Given the description of an element on the screen output the (x, y) to click on. 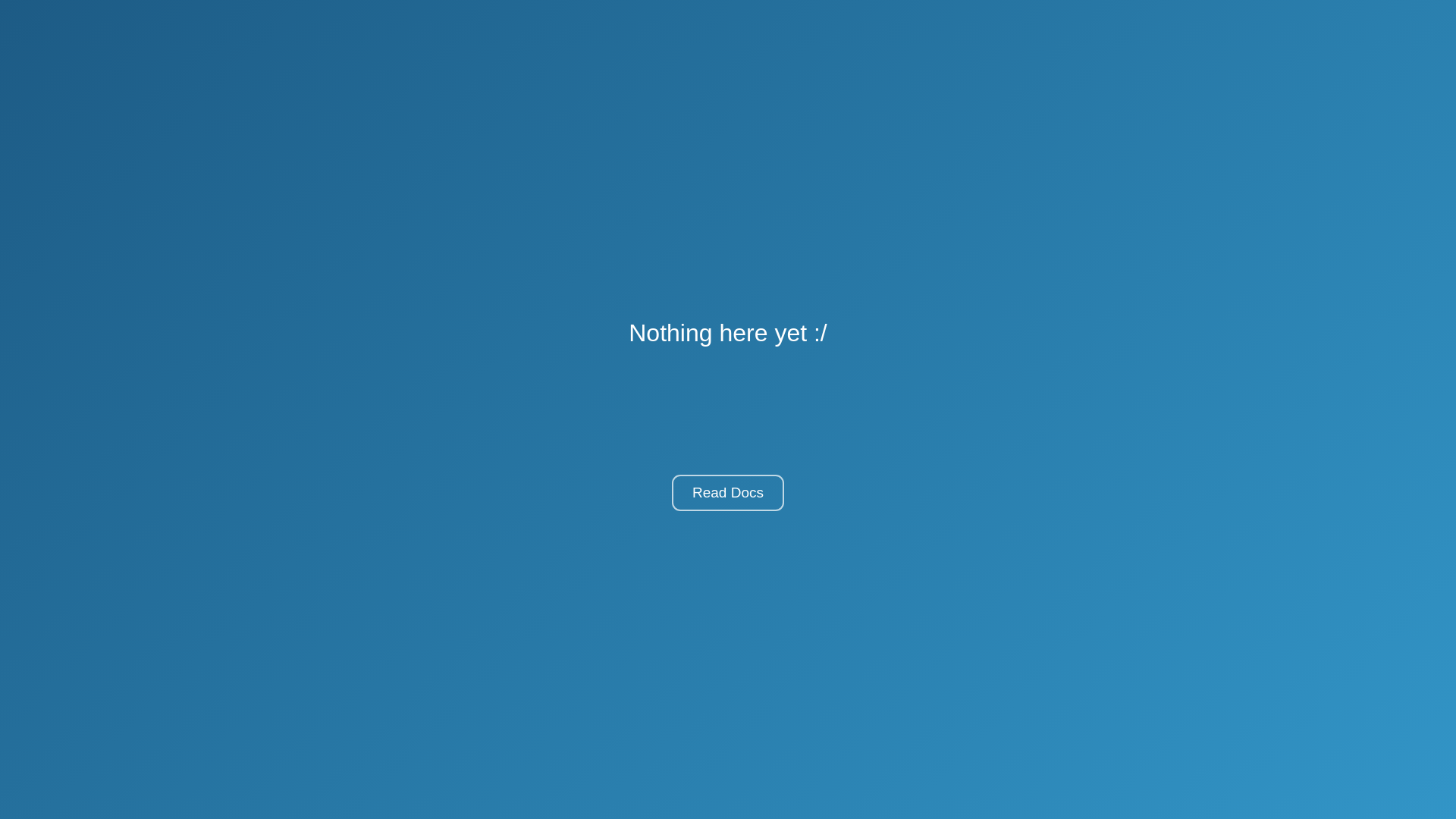
Read Docs (727, 493)
